Given the description of an element on the screen output the (x, y) to click on. 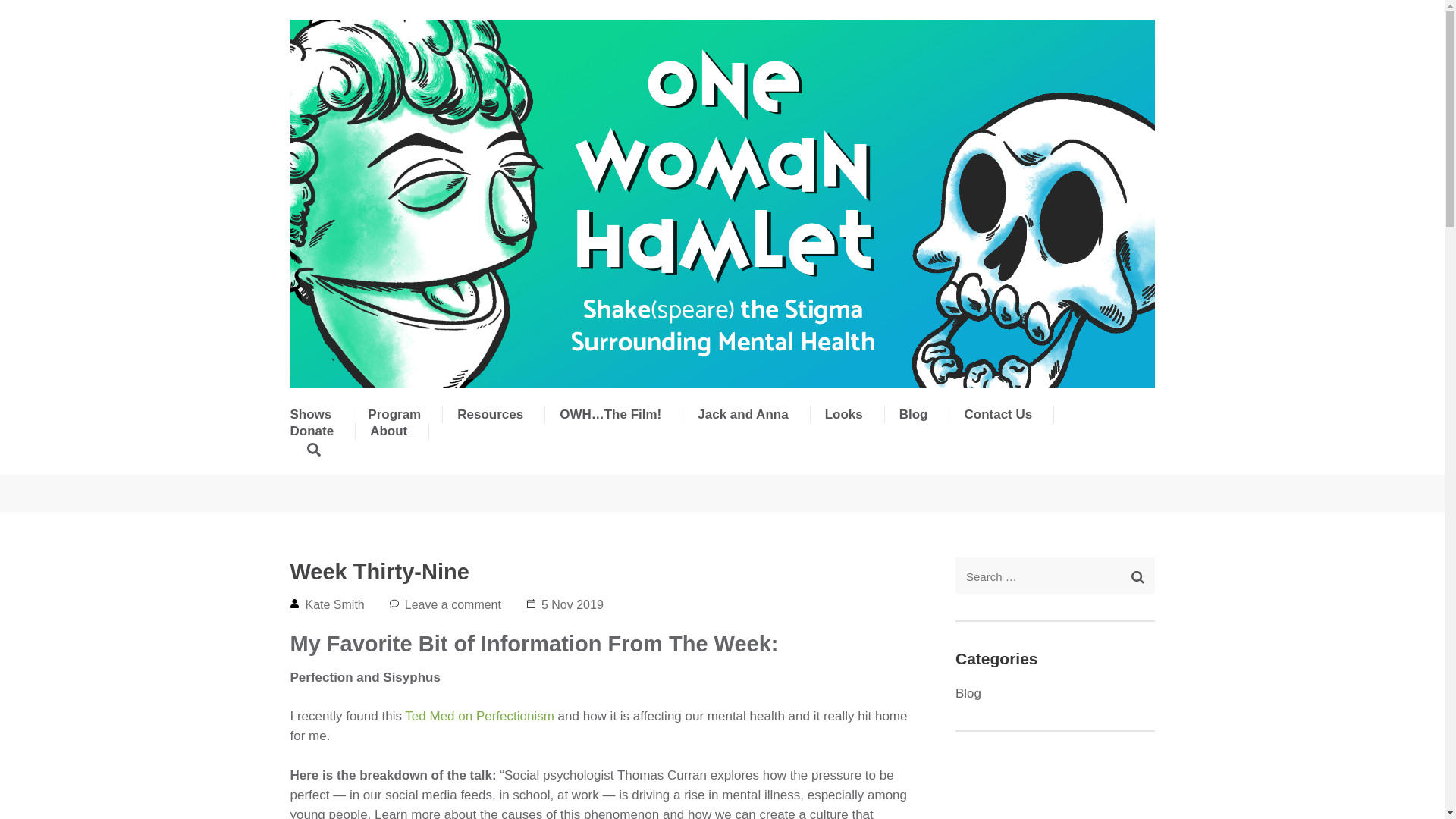
Kate Smith (334, 604)
About (388, 443)
Donate (311, 443)
Search (1137, 576)
Looks (844, 426)
Resources (489, 426)
Search (1137, 576)
Jack and Anna (742, 426)
Ted Med on Perfectionism (479, 716)
Contact Us (997, 426)
Shows (310, 426)
5 Nov 2019 (572, 604)
Leave a comment (452, 604)
One Woman Hamlet (389, 403)
Program (394, 426)
